Given the description of an element on the screen output the (x, y) to click on. 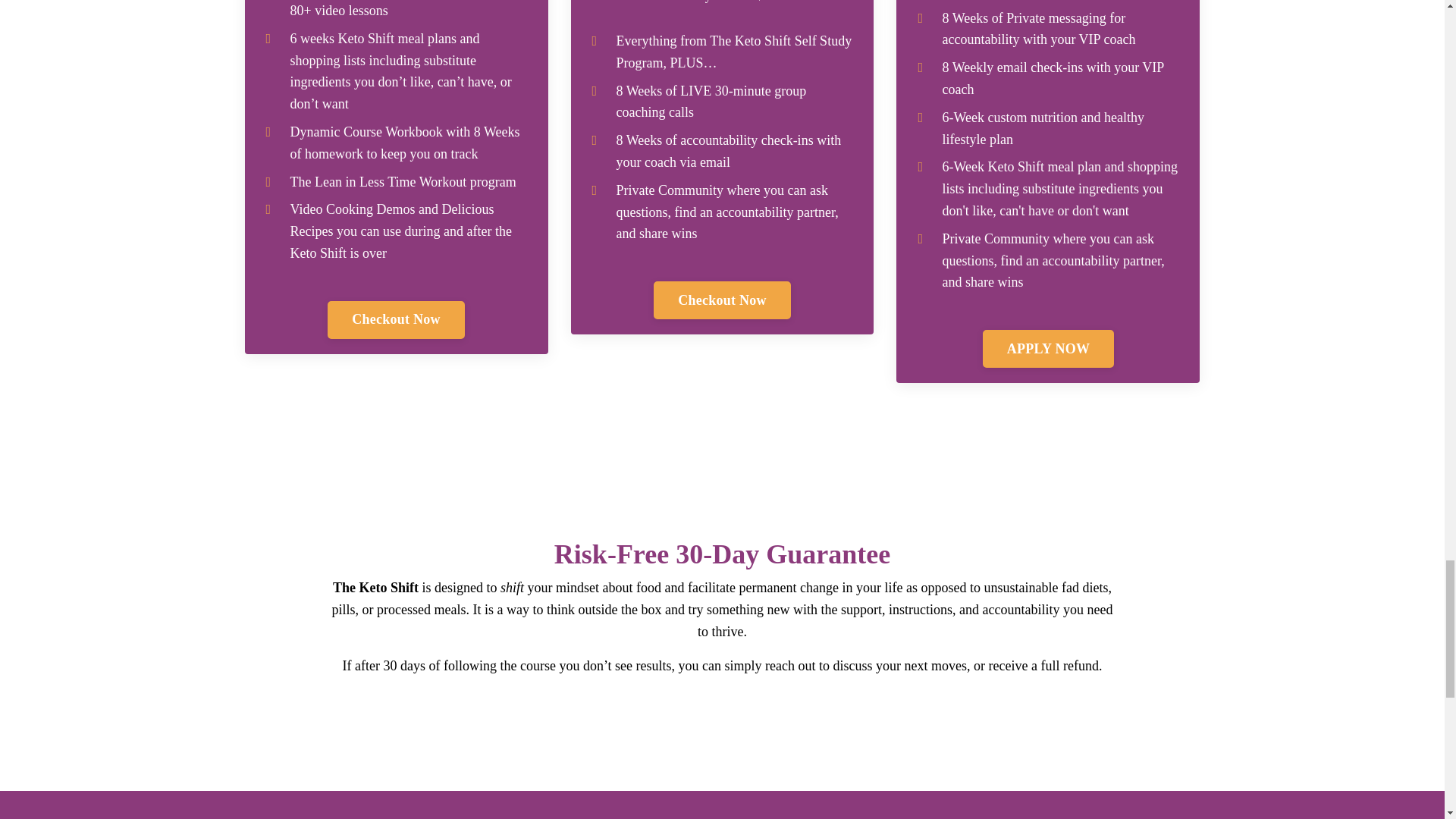
APPLY NOW (1047, 348)
Checkout Now (395, 320)
Checkout Now (721, 300)
